Given the description of an element on the screen output the (x, y) to click on. 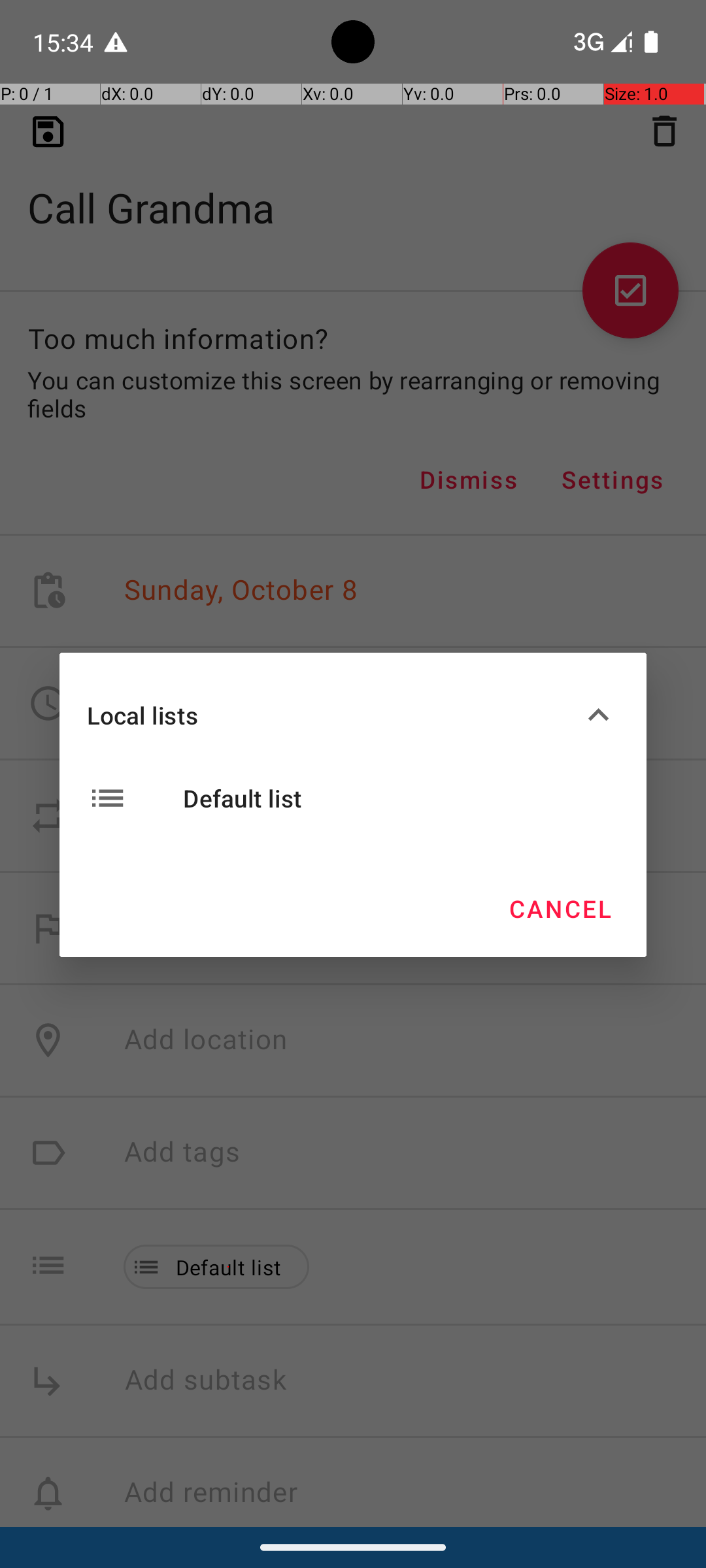
Local lists Element type: android.widget.TextView (331, 715)
